Given the description of an element on the screen output the (x, y) to click on. 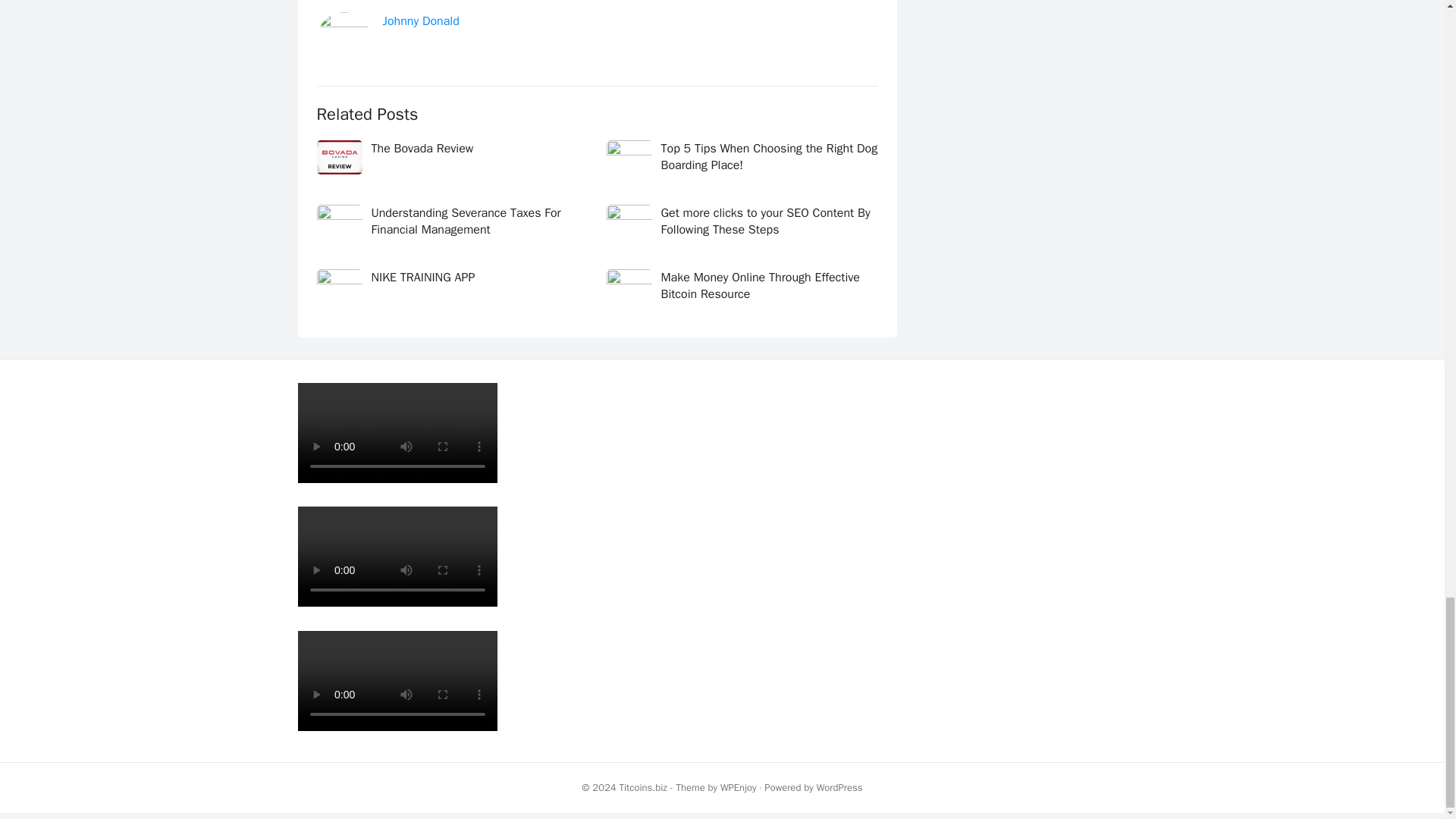
Get more clicks to your SEO Content By Following These Steps (765, 221)
The Bovada Review (422, 148)
NIKE TRAINING APP (423, 277)
Understanding Severance Taxes For Financial Management   (465, 221)
Top 5 Tips When Choosing the Right Dog Boarding Place! (769, 156)
Make Money Online Through Effective Bitcoin Resource (760, 286)
Johnny Donald (419, 20)
